Given the description of an element on the screen output the (x, y) to click on. 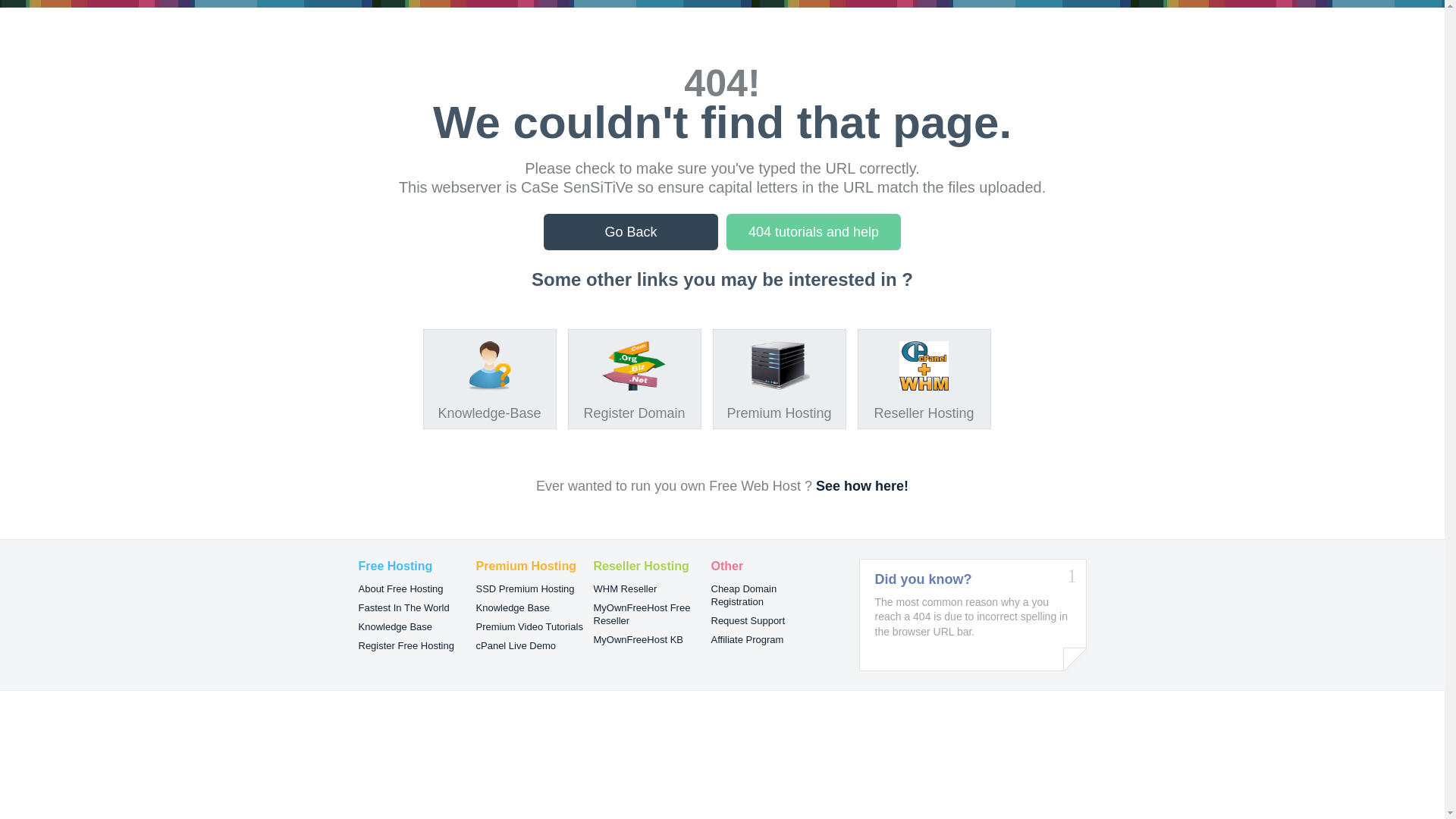
Register Free Hosting Element type: text (405, 645)
Go Back Element type: text (630, 231)
Affiliate Program Element type: text (747, 639)
cPanel Live Demo Element type: text (516, 645)
MyOwnFreeHost KB Element type: text (637, 639)
WHM Reseller Element type: text (624, 588)
Premium Video Tutorials Element type: text (529, 626)
SSD Premium Hosting Element type: text (525, 588)
Knowledge Base Element type: text (394, 626)
Knowledge Base Element type: text (513, 607)
See how here! Element type: text (861, 485)
About Free Hosting Element type: text (399, 588)
Request Support Element type: text (748, 620)
404 tutorials and help Element type: text (813, 231)
Fastest In The World Element type: text (402, 607)
MyOwnFreeHost Free Reseller Element type: text (641, 614)
Cheap Domain Registration Element type: text (744, 595)
